Given the description of an element on the screen output the (x, y) to click on. 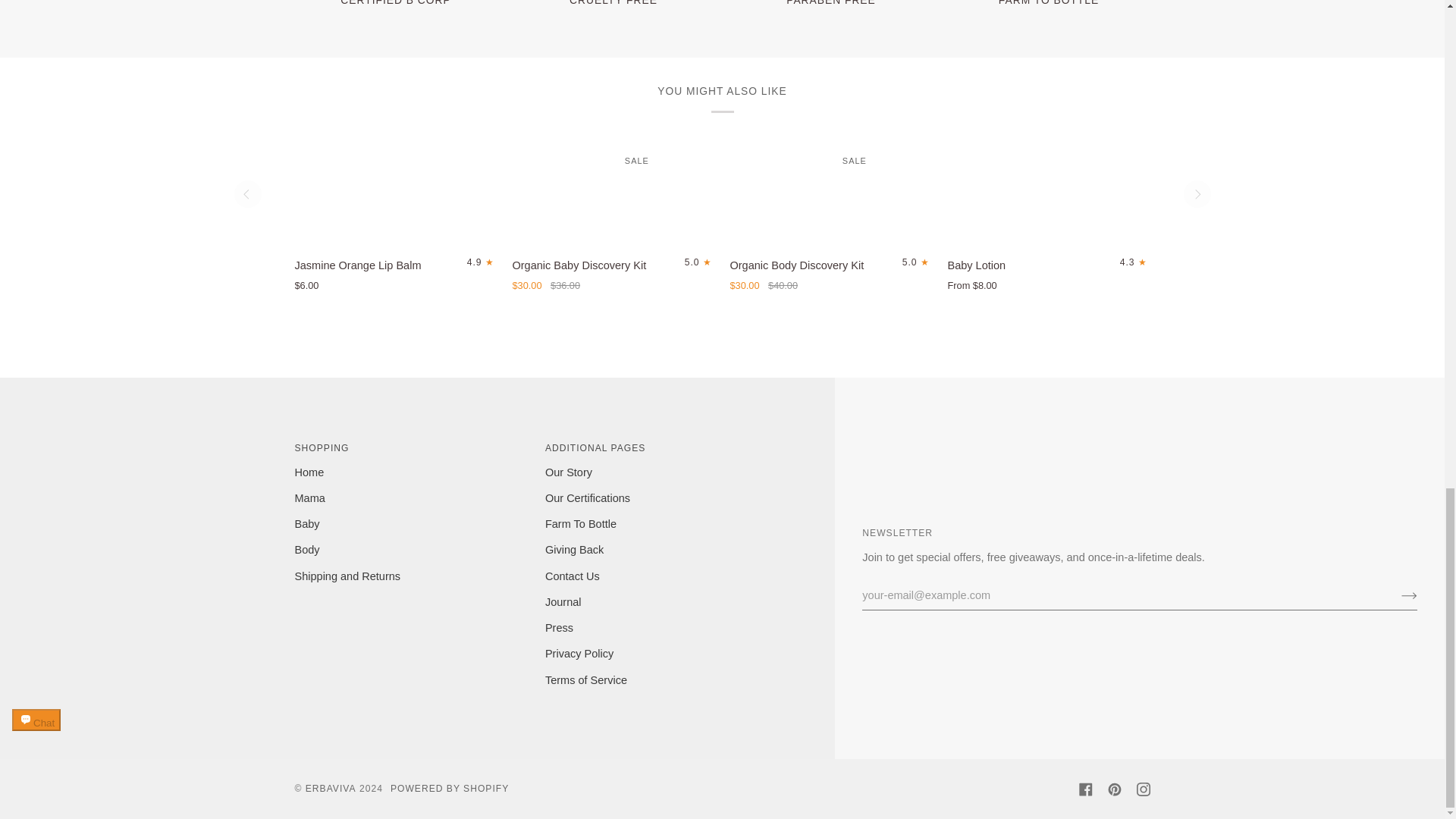
Instagram (1142, 789)
Facebook (1085, 789)
Pinterest (1113, 789)
